Given the description of an element on the screen output the (x, y) to click on. 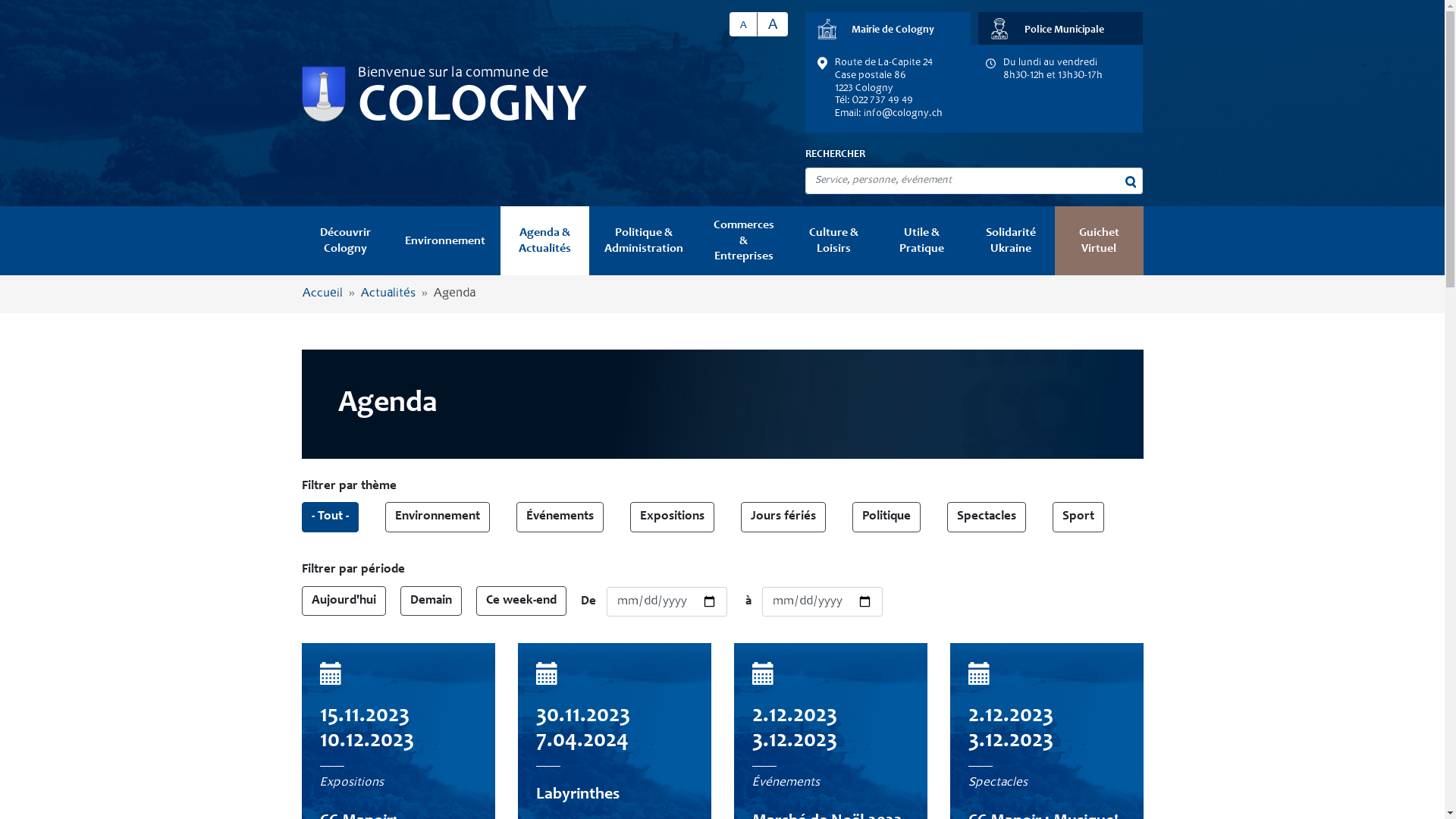
Sport Element type: text (1078, 517)
Demain Element type: text (430, 601)
- Tout - Element type: text (329, 517)
Culture & Loisirs Element type: text (833, 240)
Police Municipale Element type: text (1060, 28)
Environnement Element type: text (444, 240)
Commerces & Entreprises Element type: text (743, 240)
Mairie de Cologny Element type: text (887, 28)
A Element type: text (771, 24)
Aujourd'hui Element type: text (343, 601)
COLOGNY Element type: text (471, 107)
A Element type: text (743, 24)
Accueil Element type: text (321, 293)
Apply Element type: text (22, 12)
Vers l'accueil Element type: hover (323, 93)
Politique Element type: text (886, 517)
Guichet Virtuel Element type: text (1098, 240)
Date (par ex. 2023-11-24) Element type: hover (666, 601)
Rechercher Element type: text (1130, 181)
Spectacles Element type: text (985, 517)
Ce week-end Element type: text (521, 601)
Expositions Element type: text (671, 517)
Bienvenue sur la commune de Element type: text (452, 73)
Labyrinthes Element type: text (576, 794)
info@cologny.ch Element type: text (902, 113)
Date (par ex. 2023-11-24) Element type: hover (822, 601)
Aller au contenu principal Element type: text (0, 0)
Politique & Administration Element type: text (643, 240)
Environnement Element type: text (437, 517)
Utile & Pratique Element type: text (922, 240)
